Given the description of an element on the screen output the (x, y) to click on. 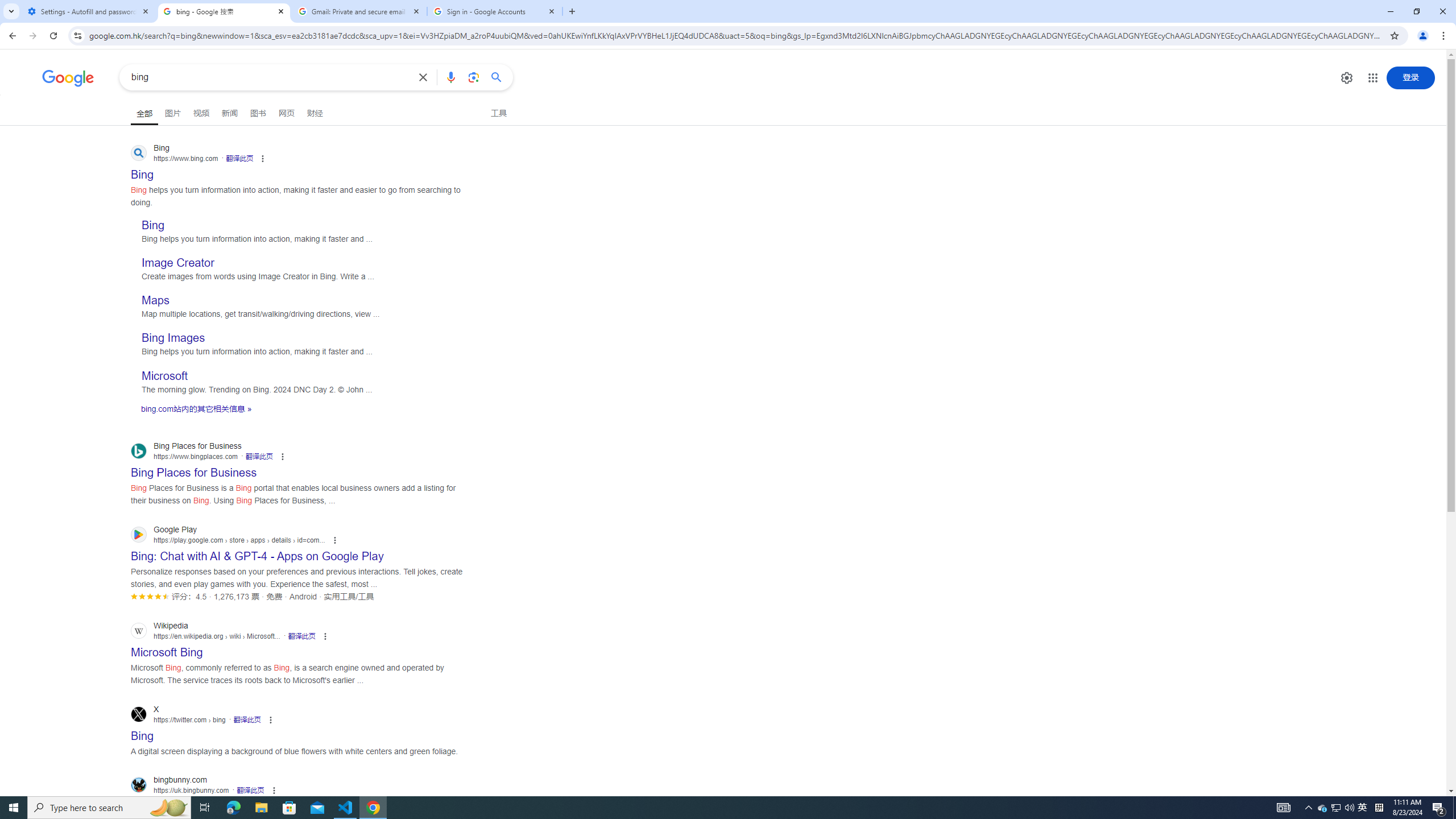
Settings - Autofill and passwords (88, 11)
 Bing Bunny: Home bingbunny.com https://uk.bingbunny.com (178, 803)
